Given the description of an element on the screen output the (x, y) to click on. 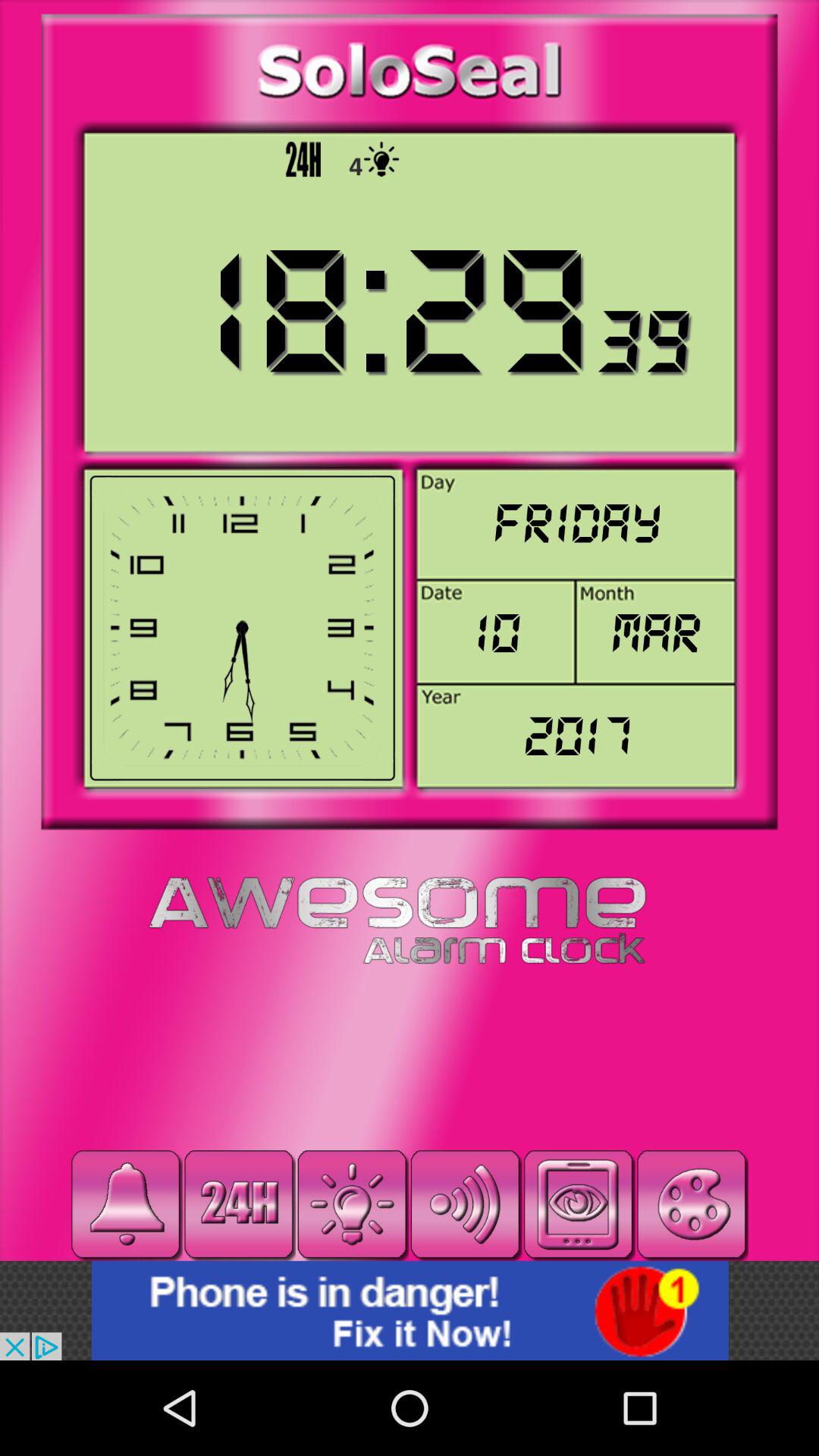
turn wifi on and off (465, 1203)
